Given the description of an element on the screen output the (x, y) to click on. 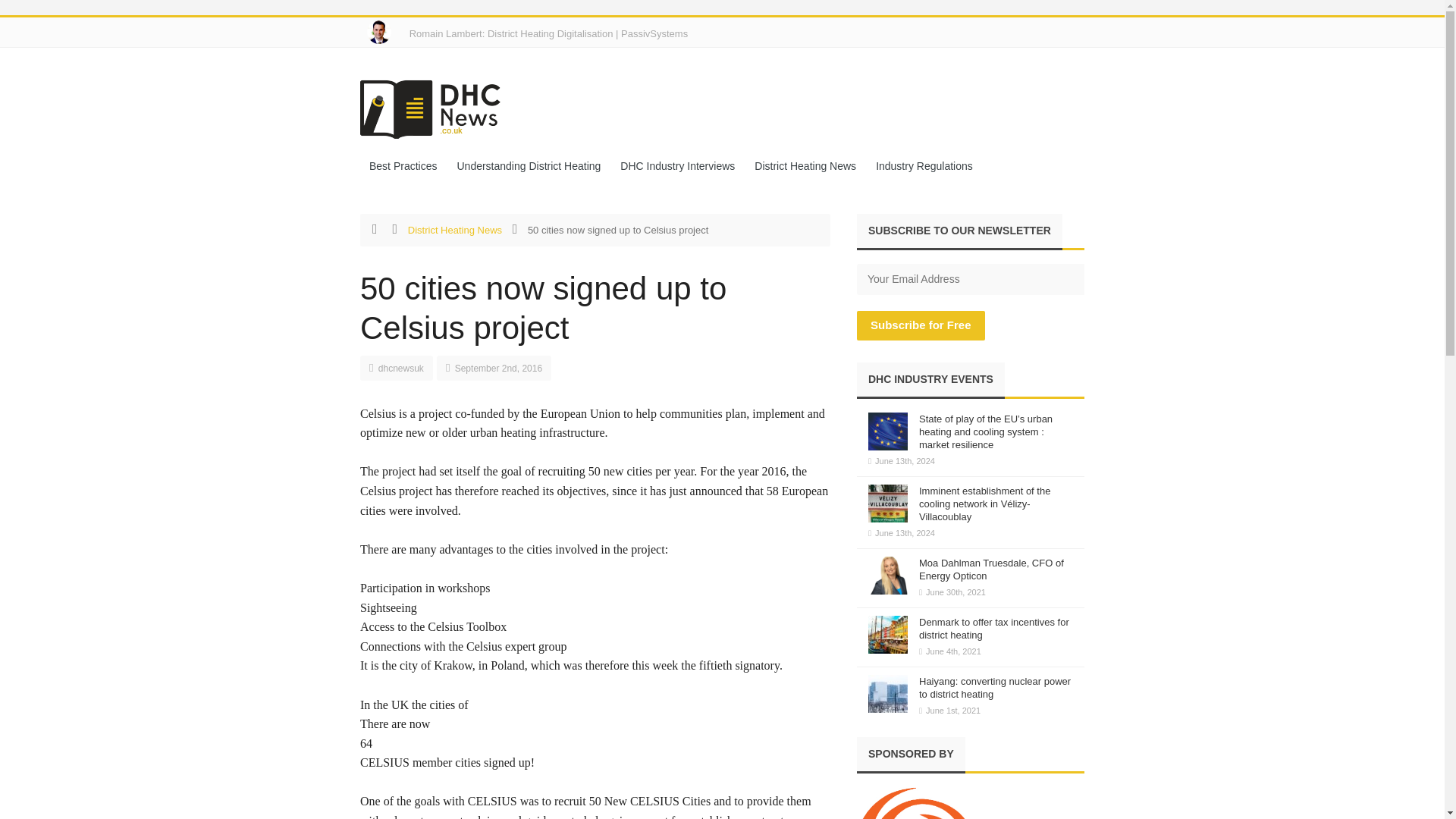
Moa Dahlman Truesdale, CFO of Energy Opticon (991, 569)
Posts by dhcnewsuk (400, 368)
DHC News (437, 104)
DHC Industry Interviews (677, 166)
Denmark to offer tax incentives for district heating (993, 628)
Industry Regulations (923, 166)
Subscribe for Free (921, 325)
District Heating News (804, 166)
Haiyang: converting nuclear power to district heating (994, 687)
Best Practices (402, 166)
District Heating News (454, 229)
Understanding District Heating (528, 166)
Subscribe for Free (921, 325)
dhcnewsuk (400, 368)
